Given the description of an element on the screen output the (x, y) to click on. 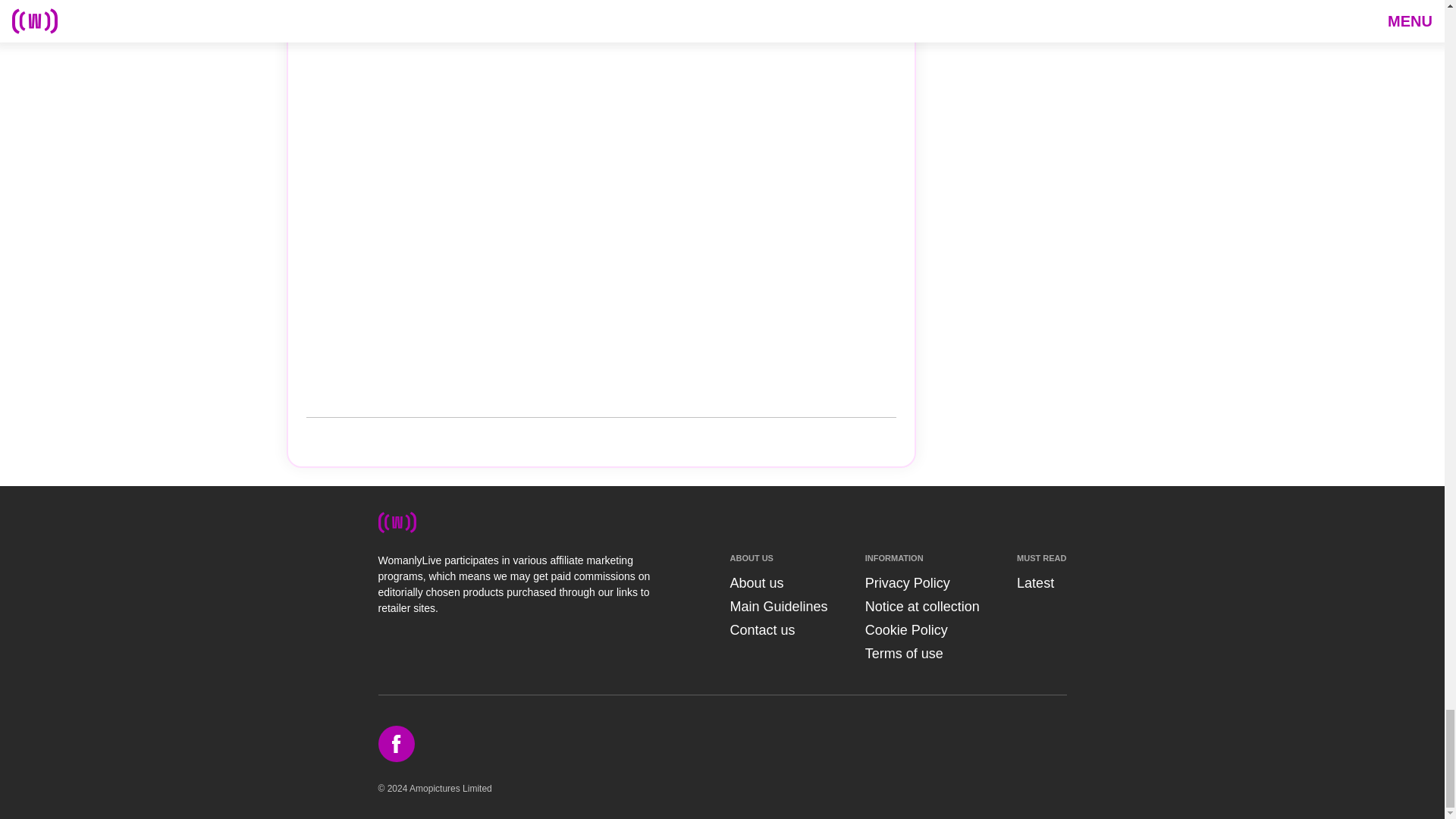
Notice at collection (921, 606)
Main Guidelines (778, 606)
About us (756, 582)
Contact us (761, 630)
Privacy Policy (907, 582)
